Given the description of an element on the screen output the (x, y) to click on. 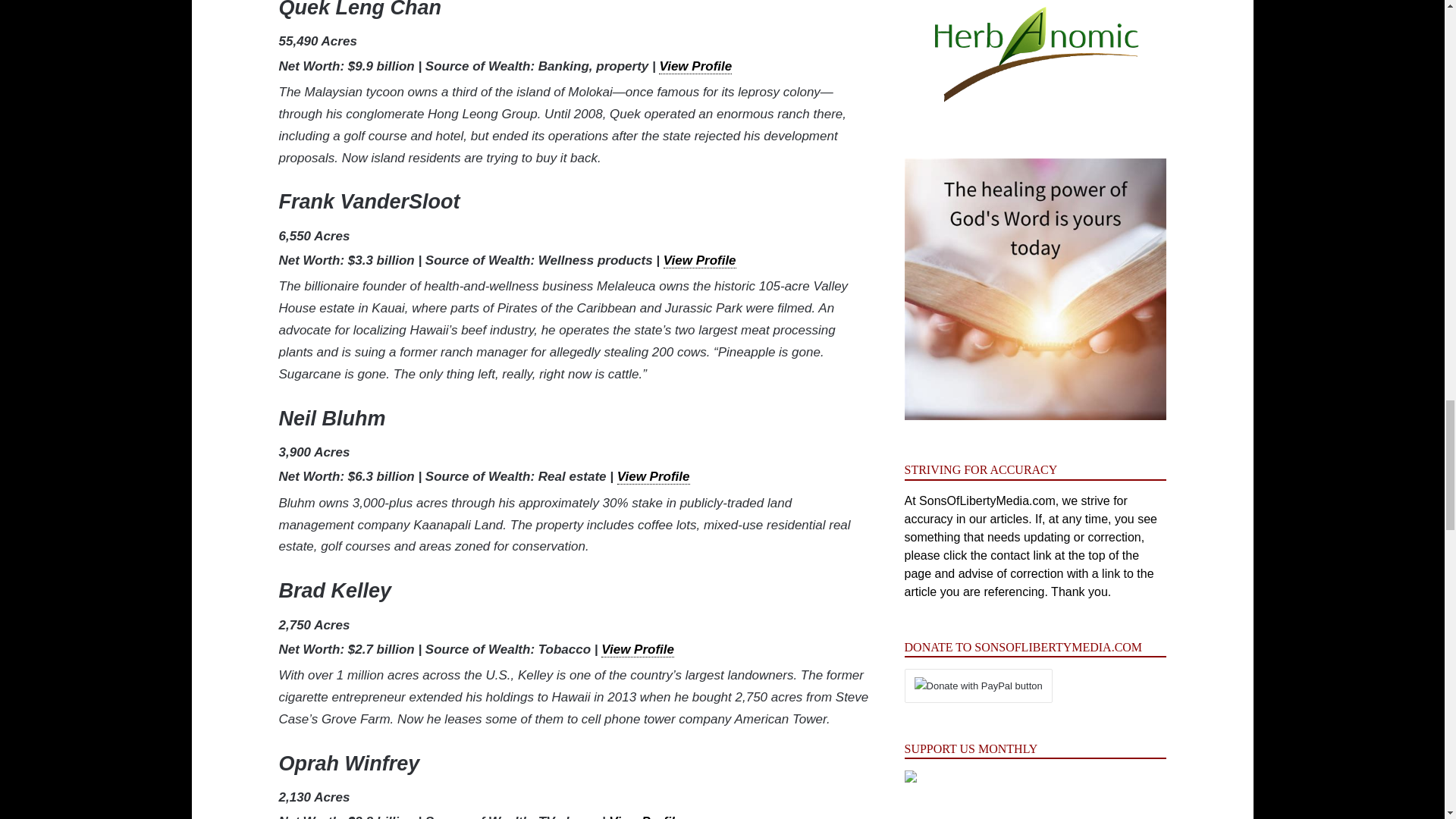
View Profile (699, 260)
View Profile (644, 816)
View Profile (653, 476)
View Profile (637, 649)
View Profile (695, 66)
